Given the description of an element on the screen output the (x, y) to click on. 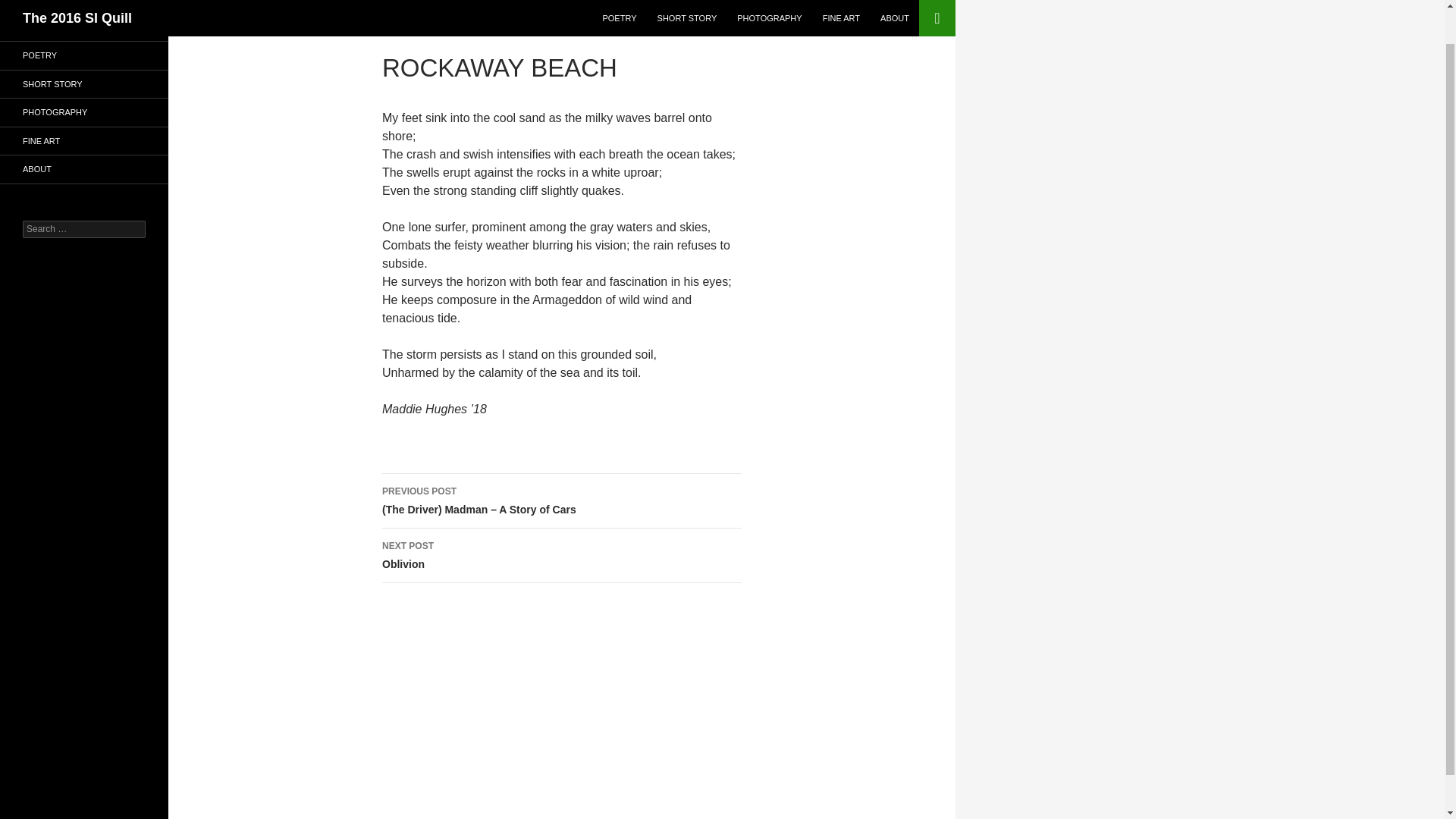
POETRY (84, 55)
PHOTOGRAPHY (84, 112)
SHORT STORY (84, 83)
ABOUT (561, 555)
FINE ART (84, 169)
